Given the description of an element on the screen output the (x, y) to click on. 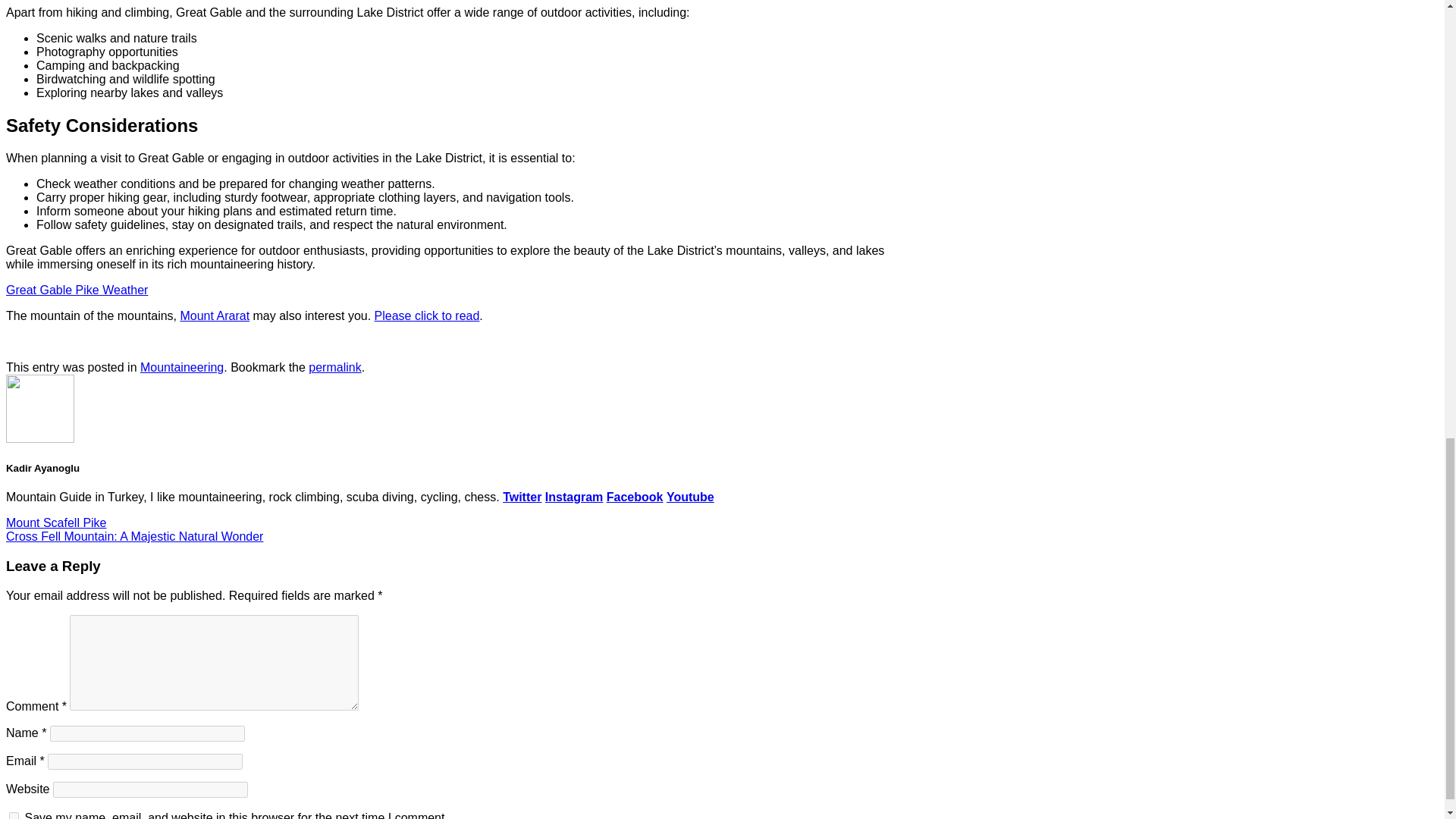
Please click to read (427, 315)
Mountaineering (181, 367)
Mount Ararat (213, 315)
Great Gable Pike Weather (76, 289)
